Given the description of an element on the screen output the (x, y) to click on. 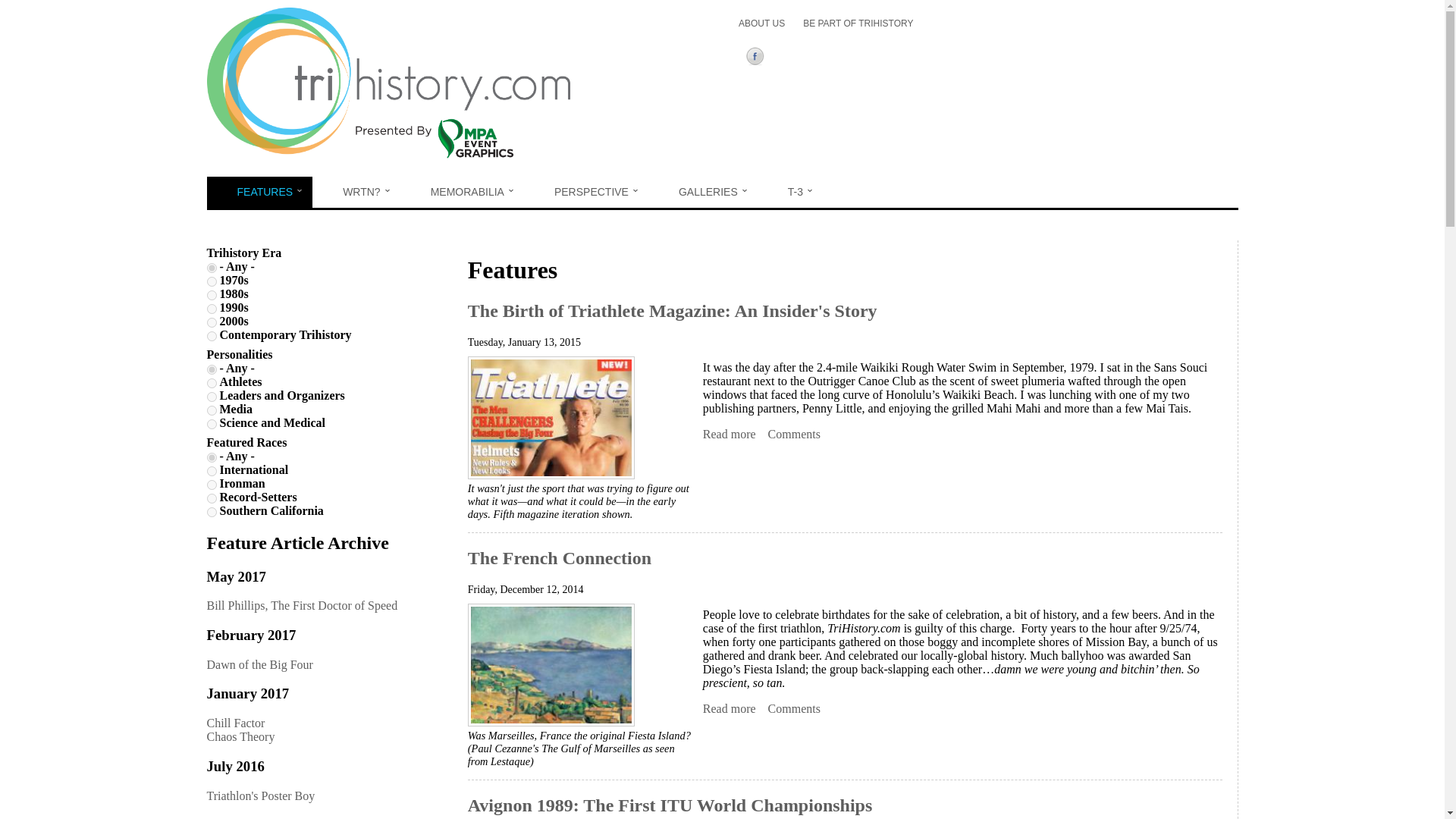
9 (210, 383)
The Birth of Triathlete Magazine: An Insider's Story (729, 434)
MEMORABILIA (462, 192)
The French Connection (729, 708)
Facebook (757, 57)
14 (210, 470)
11 (210, 424)
All (210, 369)
All (210, 457)
cover of merged TRIATHLETE magazine (550, 417)
All (210, 267)
ABOUT US (761, 23)
16 (210, 498)
6 (210, 336)
